Given the description of an element on the screen output the (x, y) to click on. 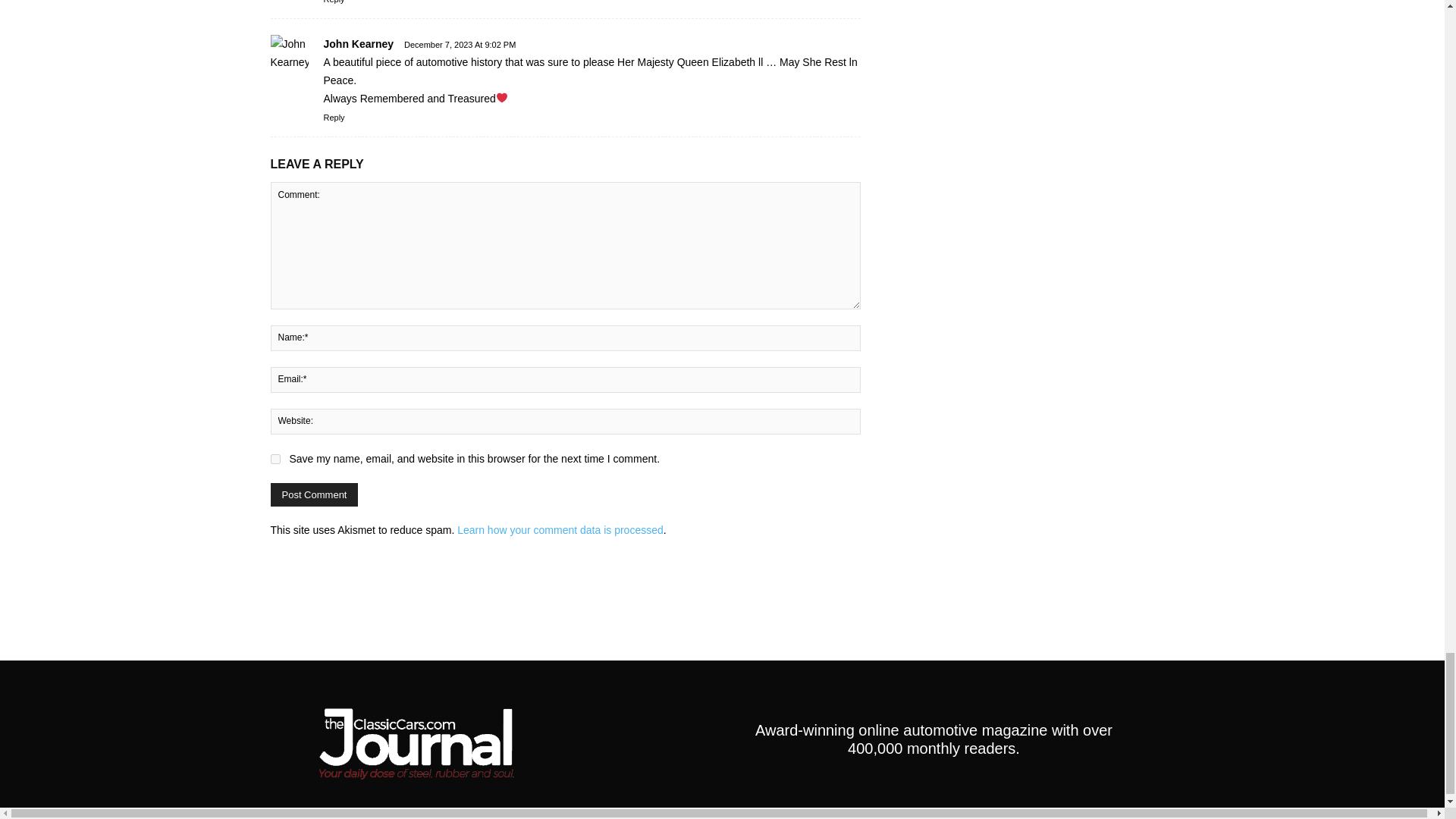
Post Comment (313, 494)
yes (274, 459)
